Given the description of an element on the screen output the (x, y) to click on. 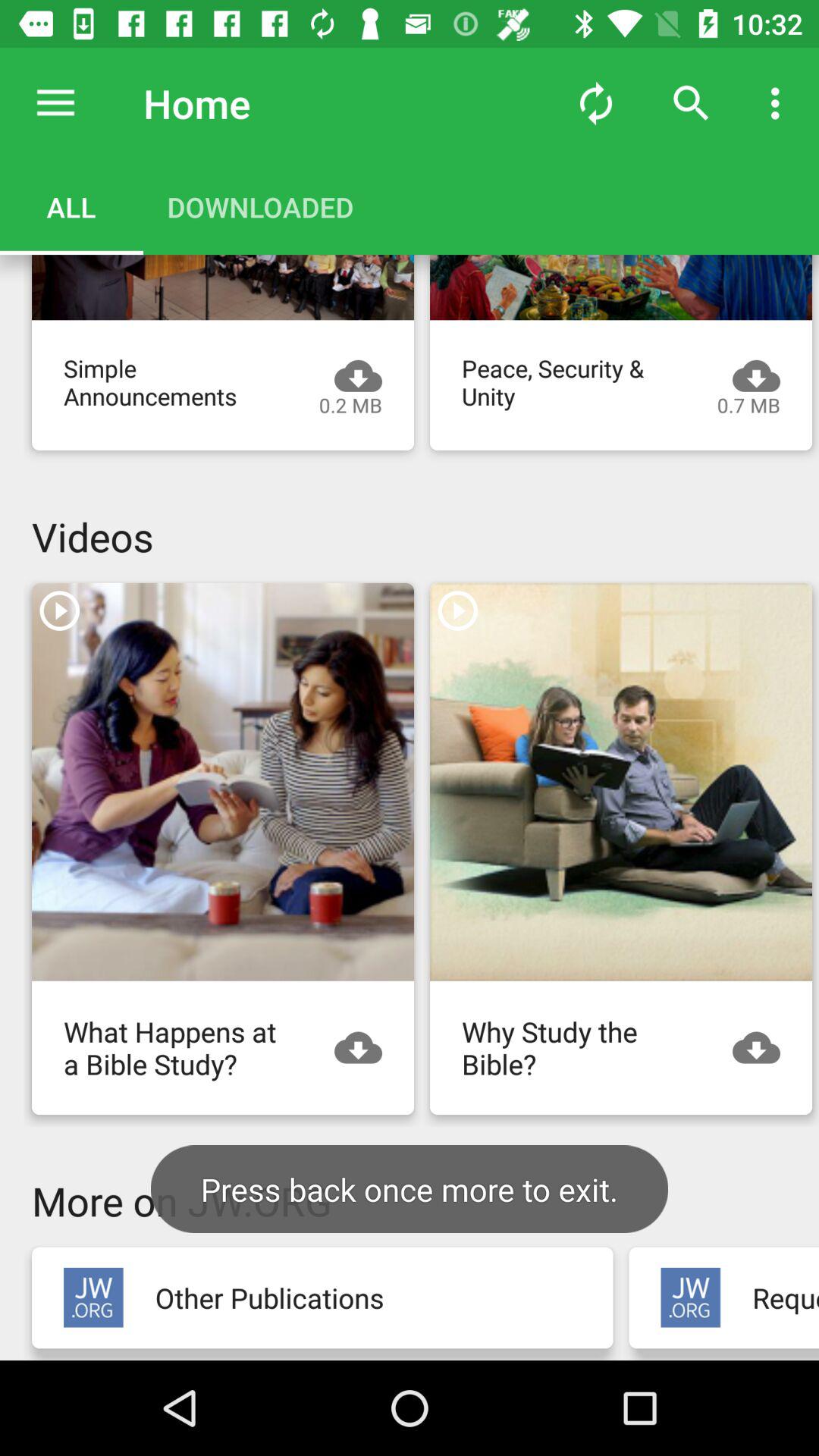
open site (690, 1297)
